Given the description of an element on the screen output the (x, y) to click on. 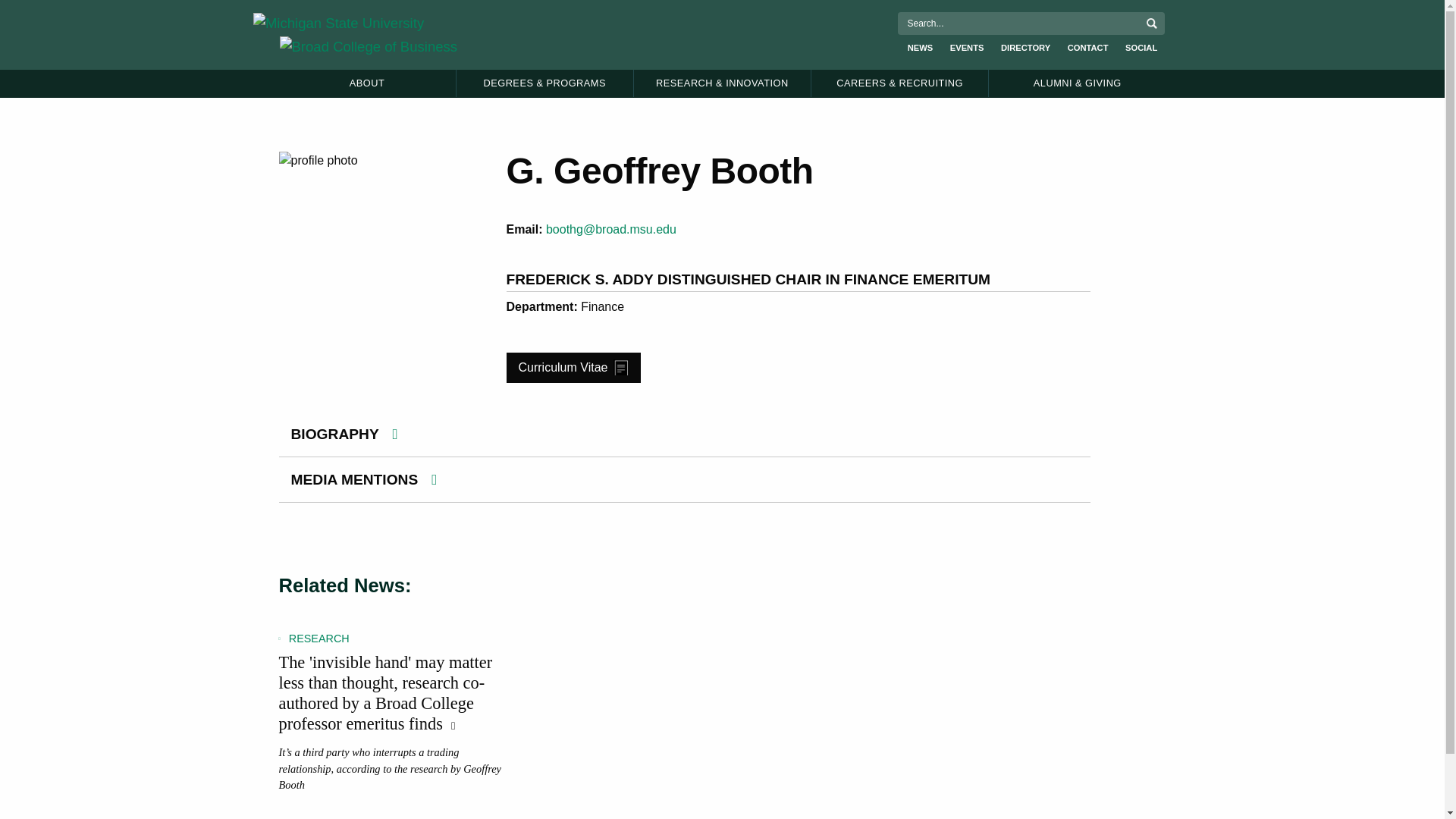
ABOUT (367, 83)
search button (1151, 23)
CONTACT (1086, 48)
SOCIAL (1141, 47)
NEWS (920, 48)
search button (1151, 23)
EVENTS (967, 48)
DIRECTORY (1025, 48)
